Given the description of an element on the screen output the (x, y) to click on. 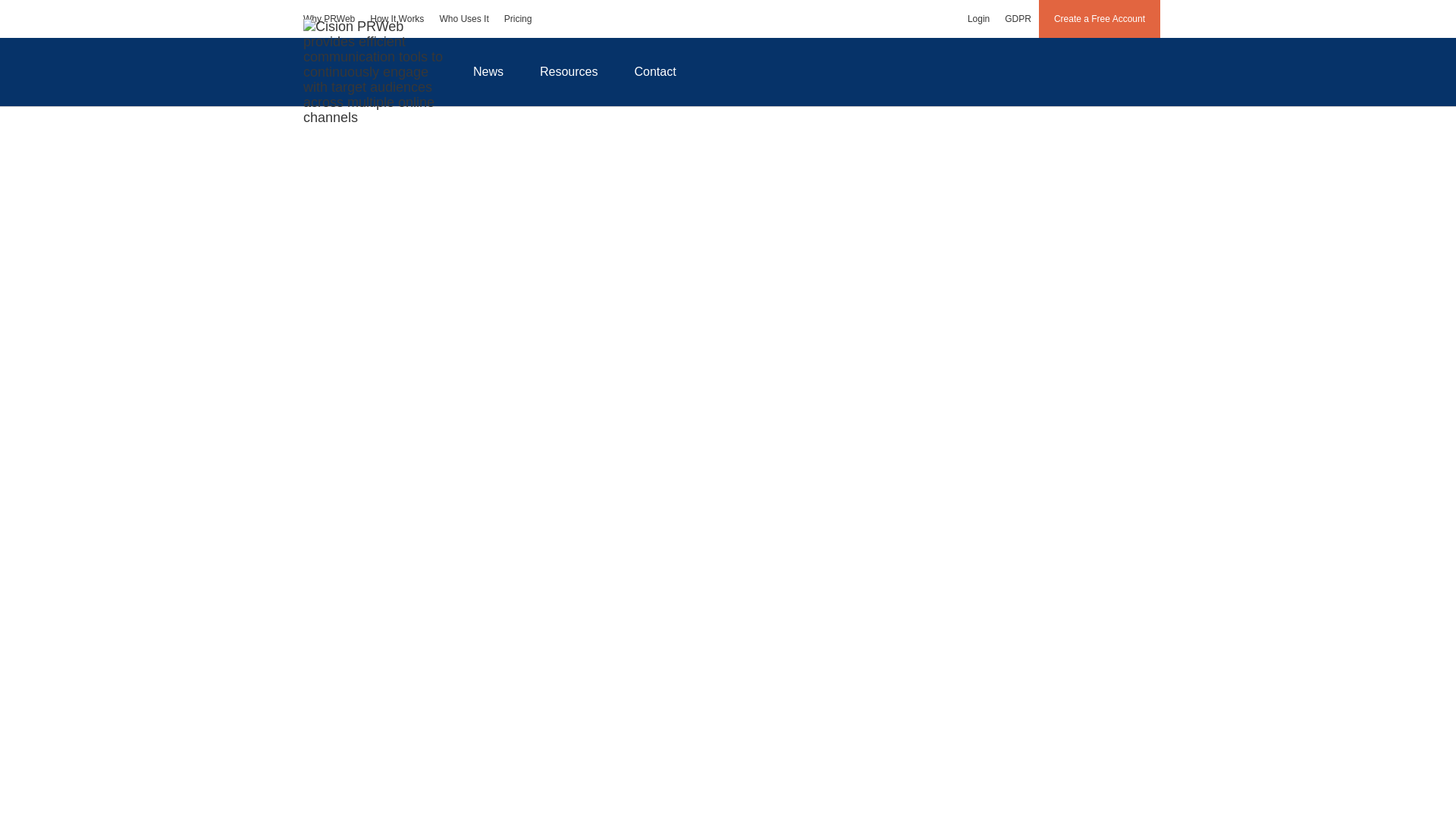
Create a Free Account (1099, 18)
Login (978, 18)
How It Works (396, 18)
GDPR (1018, 18)
Pricing (518, 18)
Why PRWeb (328, 18)
Who Uses It (463, 18)
News (487, 71)
Contact (654, 71)
Resources (568, 71)
